Given the description of an element on the screen output the (x, y) to click on. 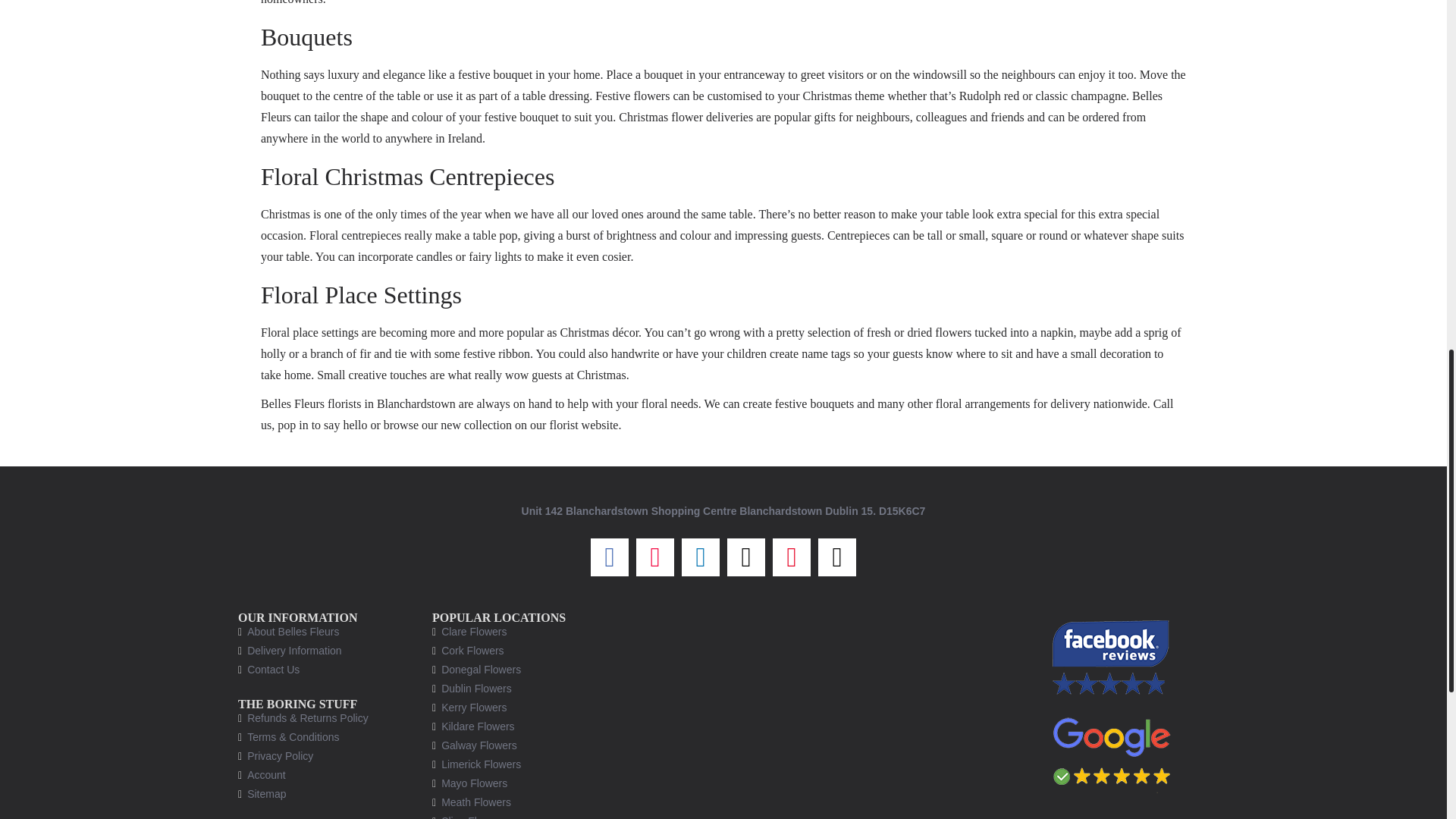
Find Belles Fleurs On Facebook (1111, 656)
Find A Local Dublin Florist On A Map (820, 714)
Find Belles Fleurs On Google (1111, 749)
